Given the description of an element on the screen output the (x, y) to click on. 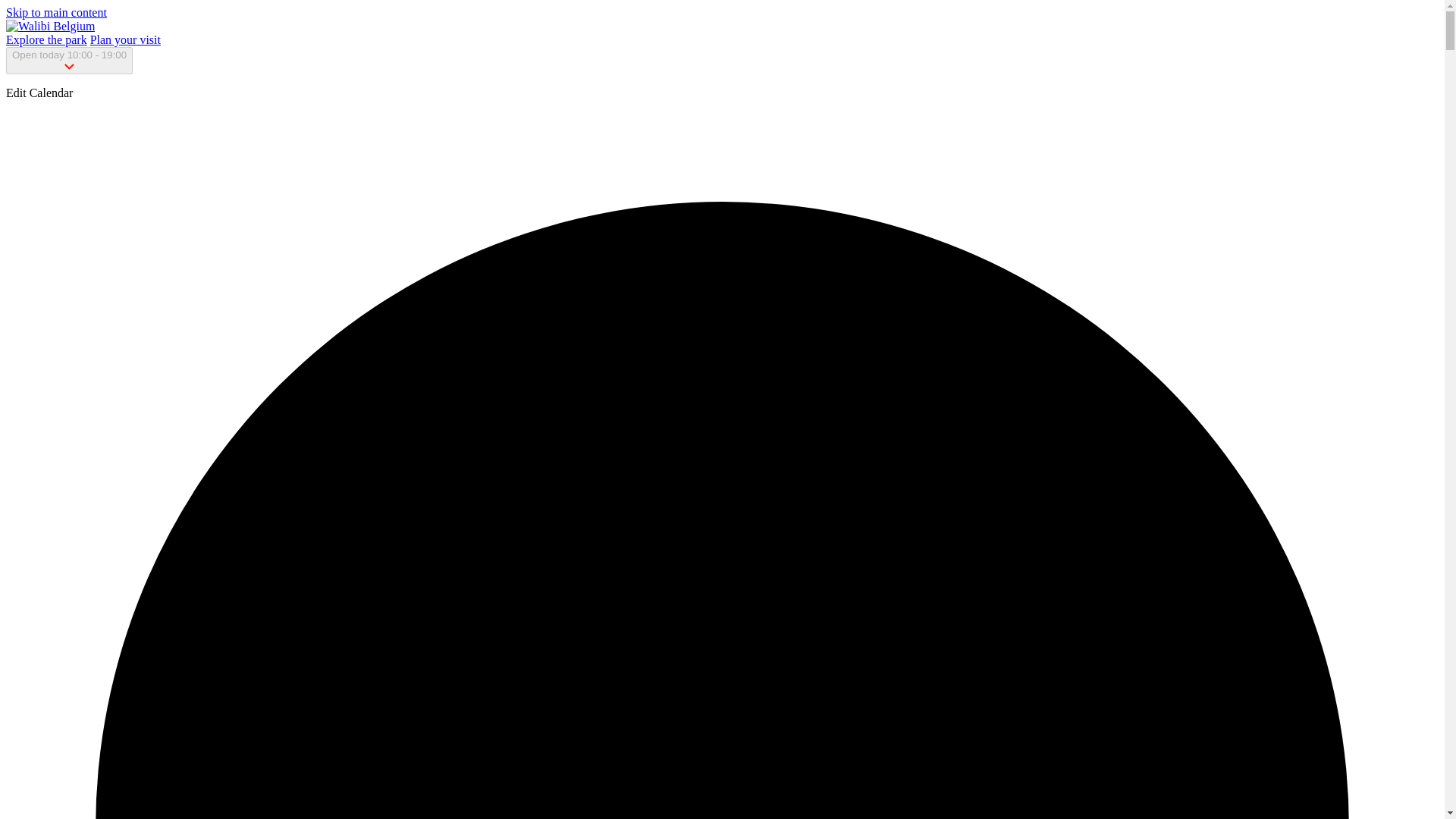
Open today 10:00 - 19:00 (68, 60)
Plan your visit (125, 39)
Explore the park (46, 39)
Skip to main content (55, 11)
